Given the description of an element on the screen output the (x, y) to click on. 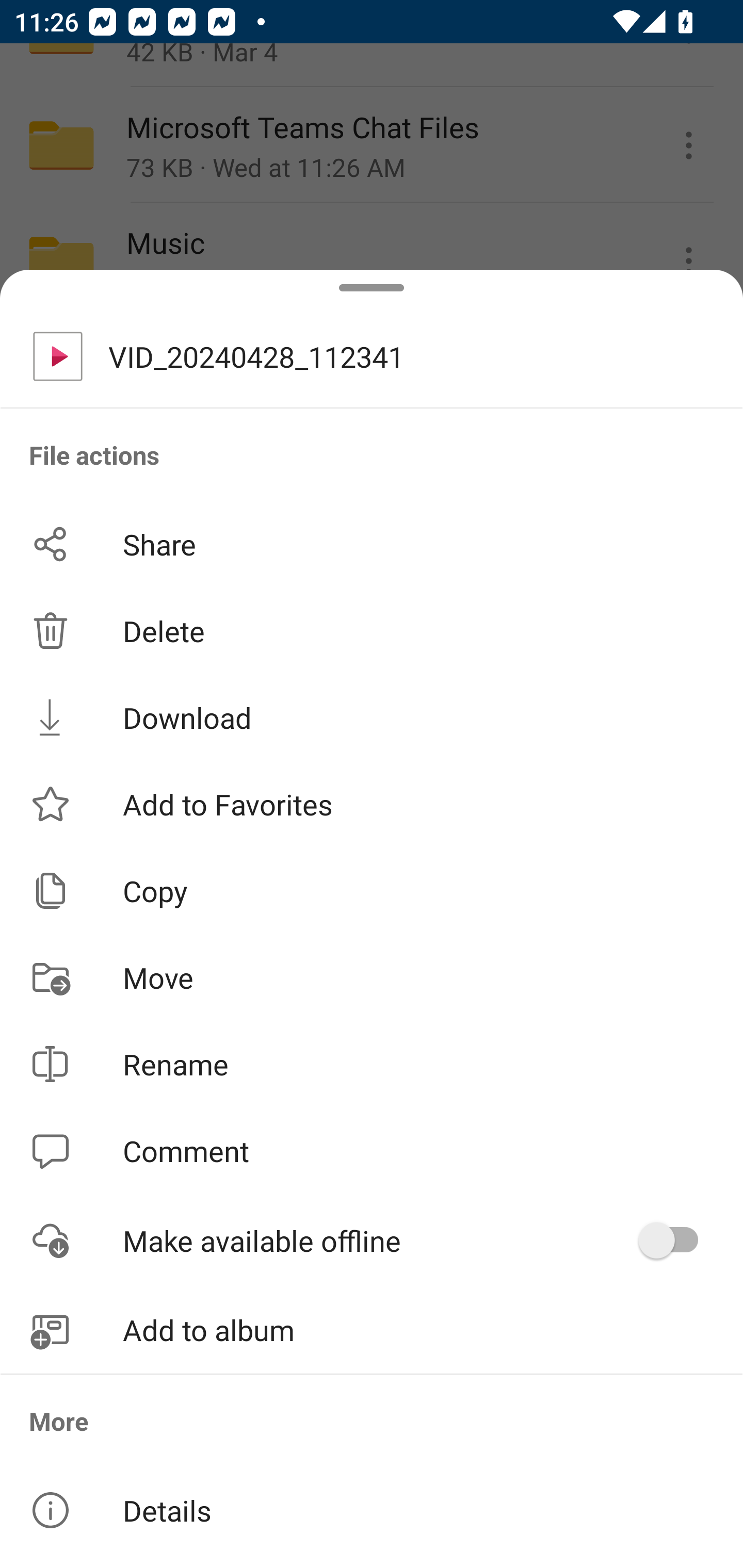
Share button Share (371, 544)
Delete button Delete (371, 631)
Download button Download (371, 717)
Add to Favorites button Add to Favorites (371, 803)
Copy button Copy (371, 890)
Move button Move (371, 977)
Rename button Rename (371, 1063)
Comment button Comment (371, 1150)
Make offline operation (674, 1240)
Add to album button Add to album (371, 1329)
Details button Details (371, 1510)
